Given the description of an element on the screen output the (x, y) to click on. 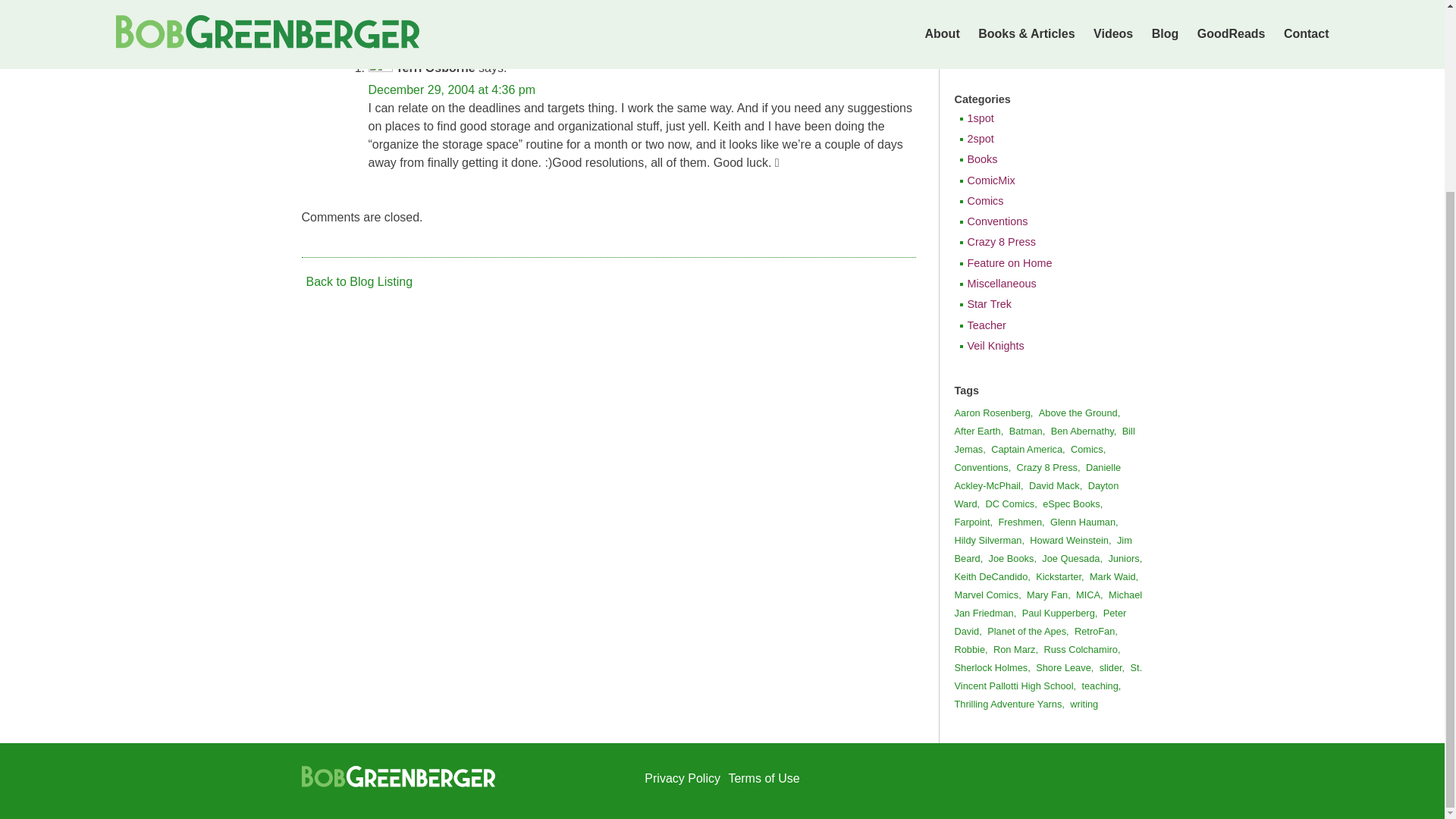
Comics (1044, 201)
Coming Next Friday: Thrilling Adventure Yarns 2025 (1044, 3)
1spot (1044, 118)
Ben Abernathy (1086, 430)
Feature on Home (1044, 263)
Bill Jemas (1043, 440)
2spot (1044, 138)
Veil Knights (1044, 345)
Crazy 8 Press (1044, 241)
Star Trek (1044, 304)
